Given the description of an element on the screen output the (x, y) to click on. 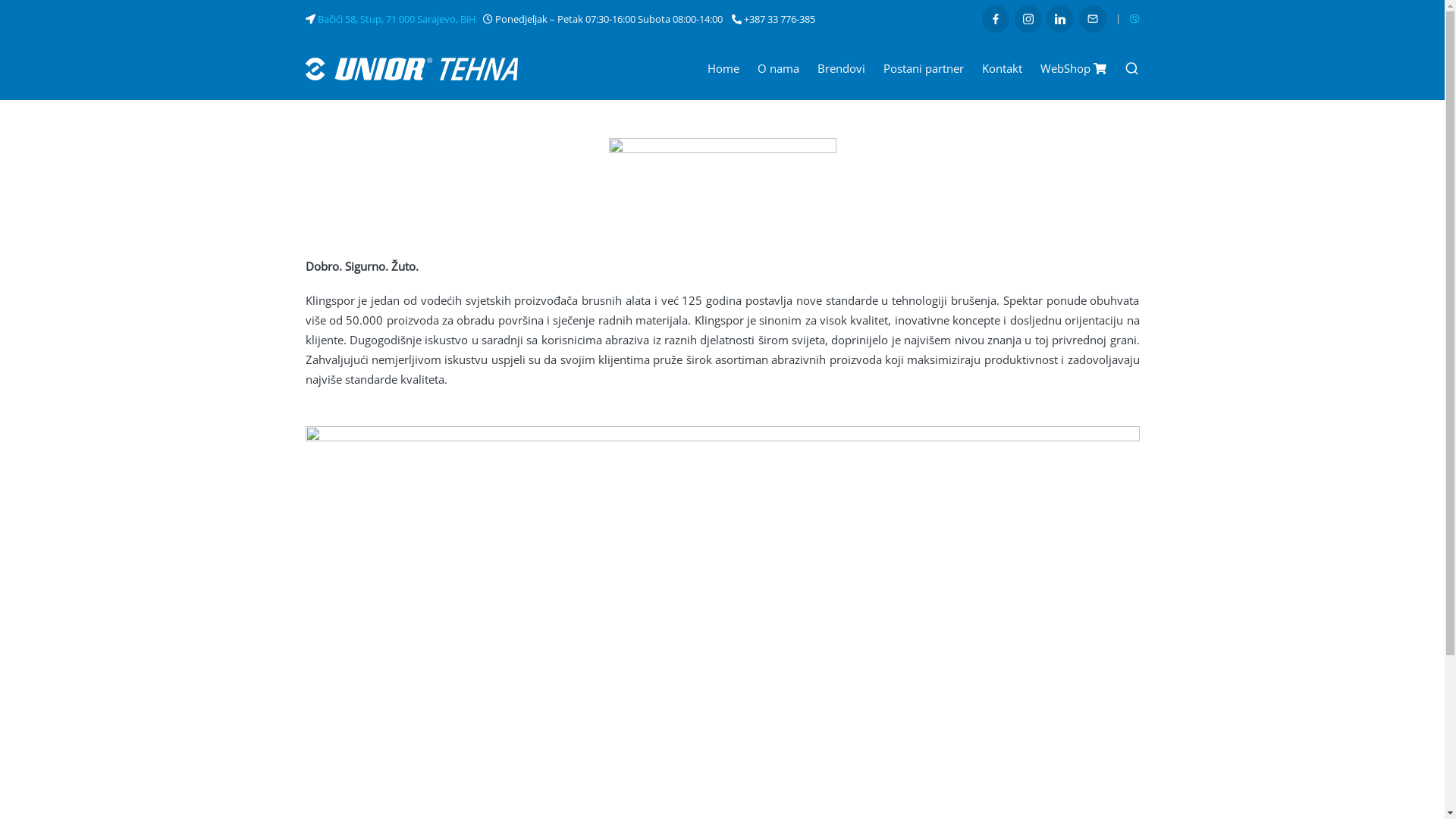
Email Element type: text (1091, 18)
Facebook Element type: text (995, 18)
O nama Element type: text (778, 68)
Brendovi Element type: text (841, 68)
Postani partner Element type: text (923, 68)
Instagram Element type: text (1027, 18)
Kontakt Element type: text (1002, 68)
WebShop Element type: text (1073, 68)
Home Element type: text (723, 68)
LinkedIn Element type: text (1059, 18)
